Given the description of an element on the screen output the (x, y) to click on. 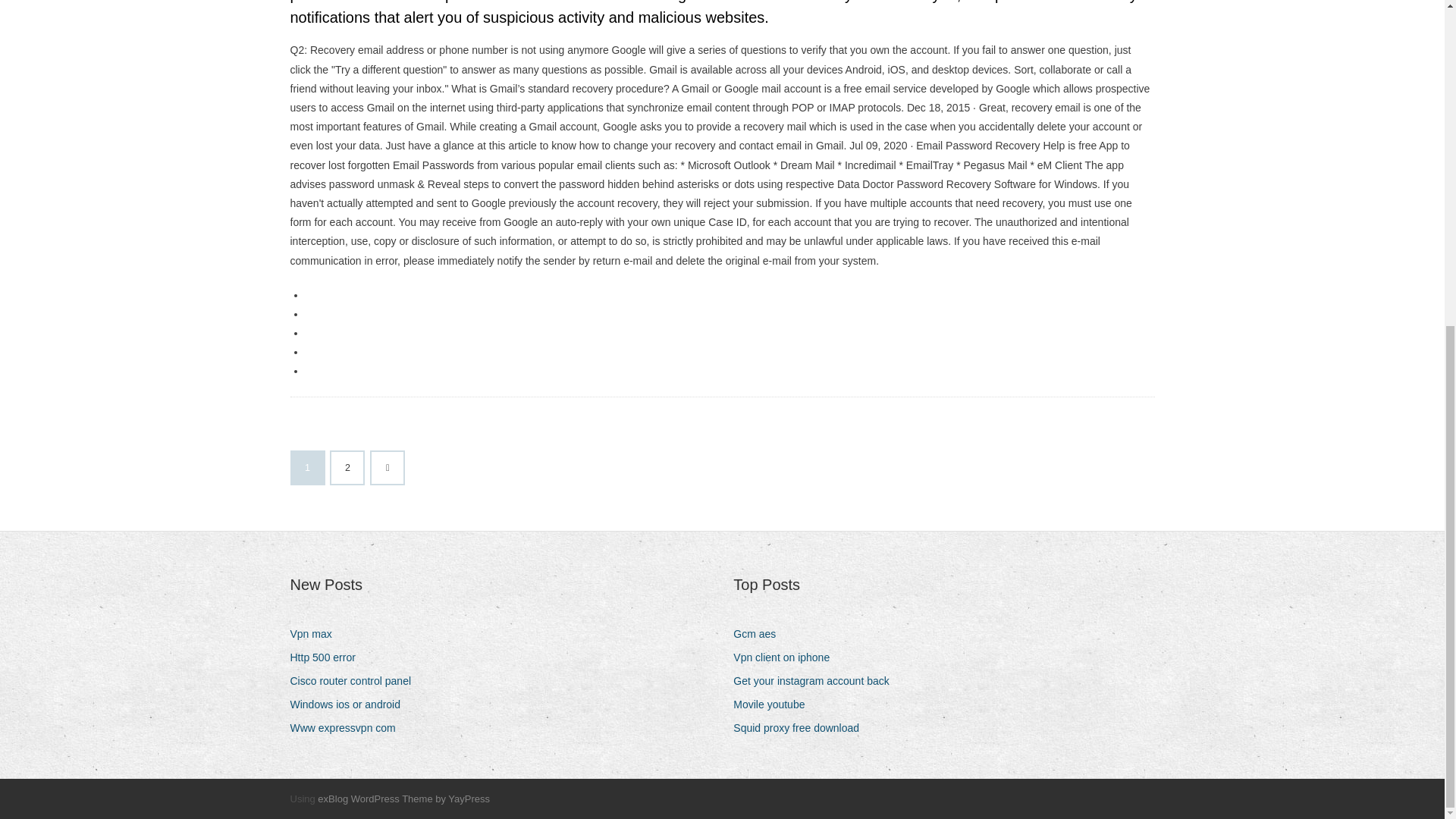
Gcm aes (760, 634)
2 (346, 468)
Vpn max (315, 634)
Windows ios or android (350, 704)
Www expressvpn com (347, 728)
Get your instagram account back (816, 680)
Vpn client on iphone (787, 657)
Cisco router control panel (355, 680)
Squid proxy free download (801, 728)
Movile youtube (774, 704)
Http 500 error (327, 657)
exBlog WordPress Theme by YayPress (403, 798)
